Given the description of an element on the screen output the (x, y) to click on. 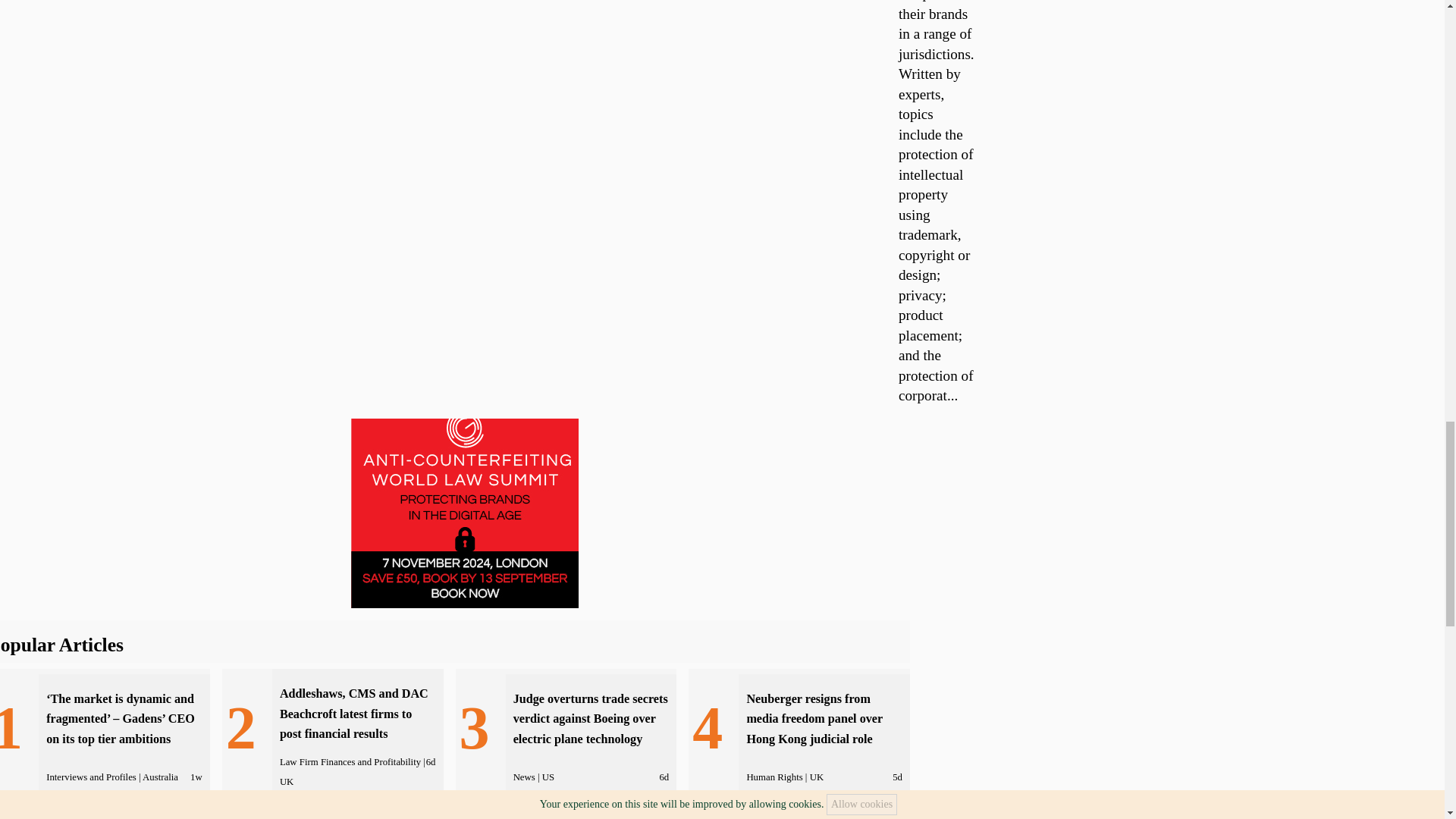
Law Firm Finances and Profitability (349, 761)
Australia (159, 777)
Interviews and Profiles (91, 777)
